Given the description of an element on the screen output the (x, y) to click on. 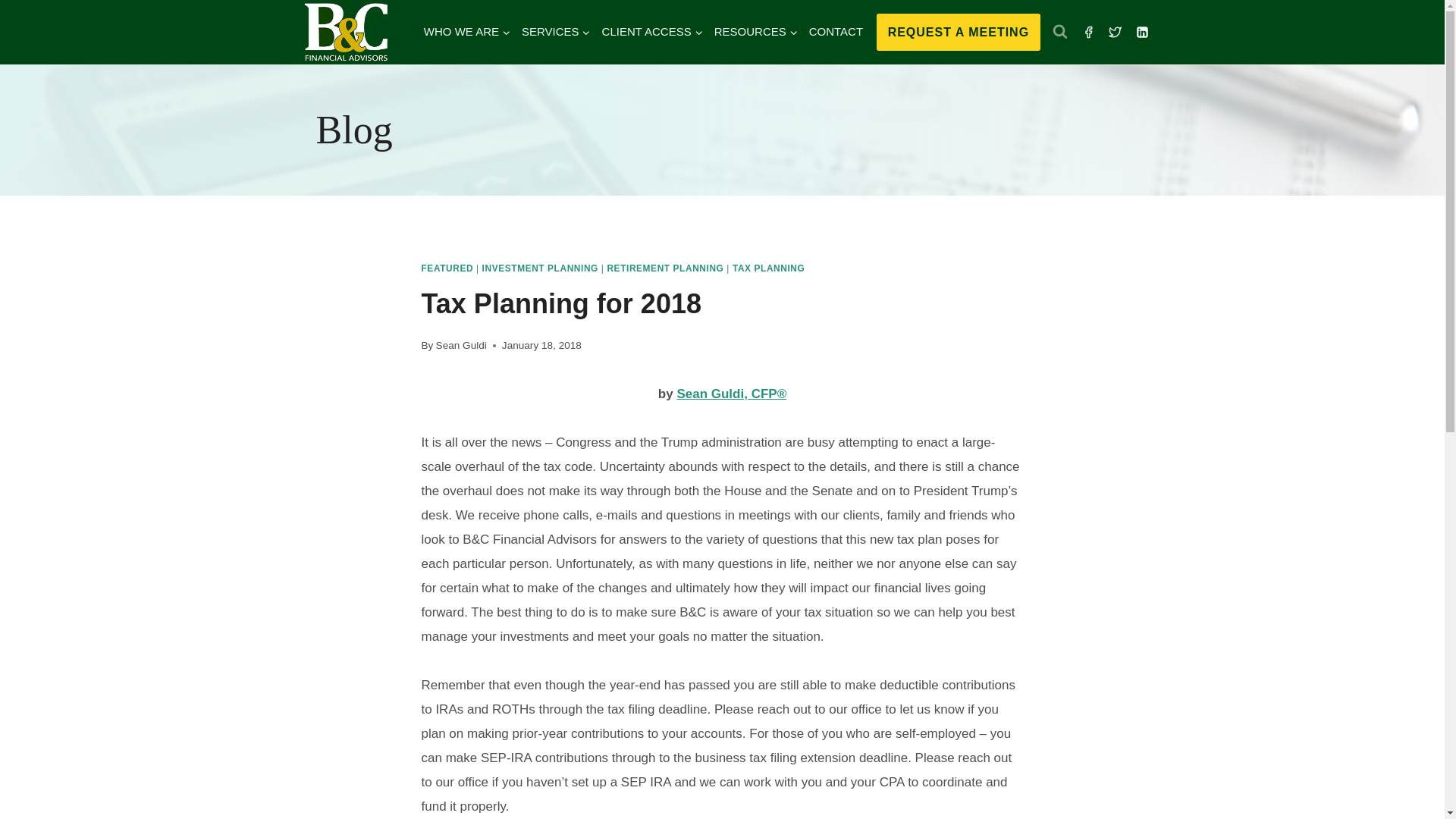
Sean Guldi (460, 345)
RESOURCES (755, 31)
CLIENT ACCESS (651, 31)
REQUEST A MEETING (958, 32)
FEATURED (448, 267)
RETIREMENT PLANNING (665, 267)
INVESTMENT PLANNING (539, 267)
WHO WE ARE (466, 31)
CONTACT (835, 31)
SERVICES (555, 31)
TAX PLANNING (768, 267)
